Given the description of an element on the screen output the (x, y) to click on. 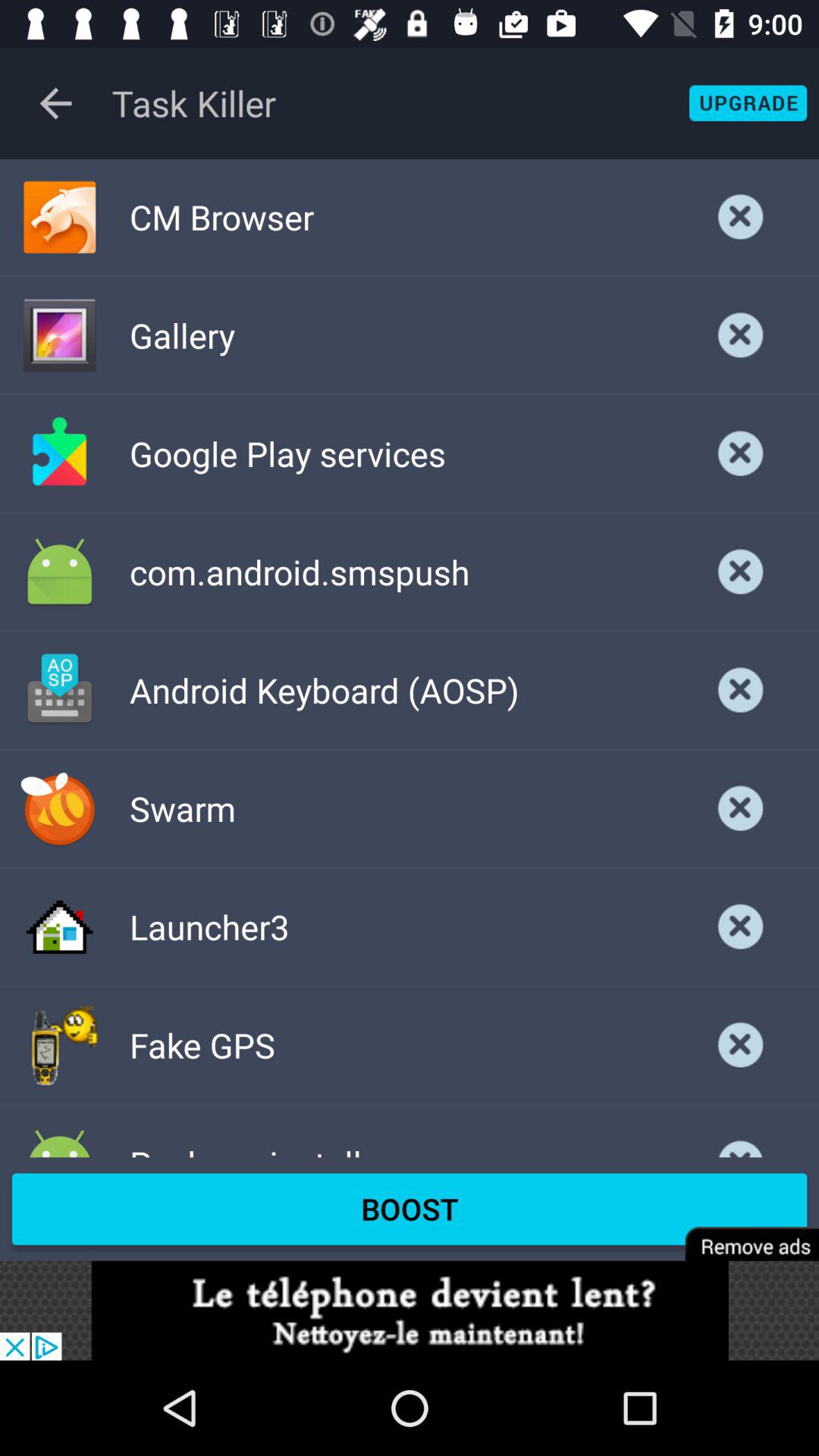
toggle install button (740, 571)
